Given the description of an element on the screen output the (x, y) to click on. 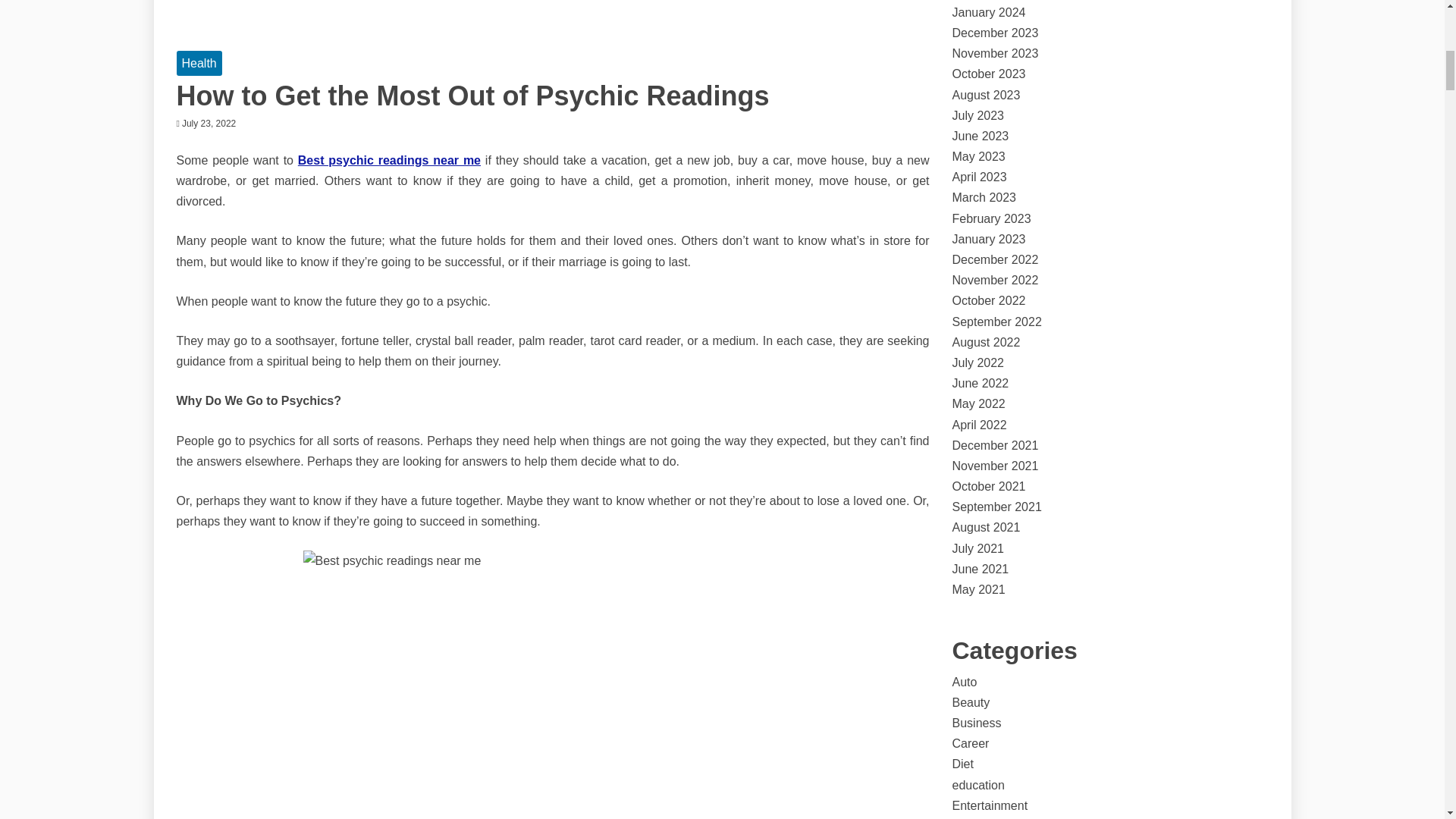
Best psychic readings near me (389, 160)
How to Get the Most Out of Psychic Readings (472, 95)
July 23, 2022 (208, 122)
Health (198, 63)
